Given the description of an element on the screen output the (x, y) to click on. 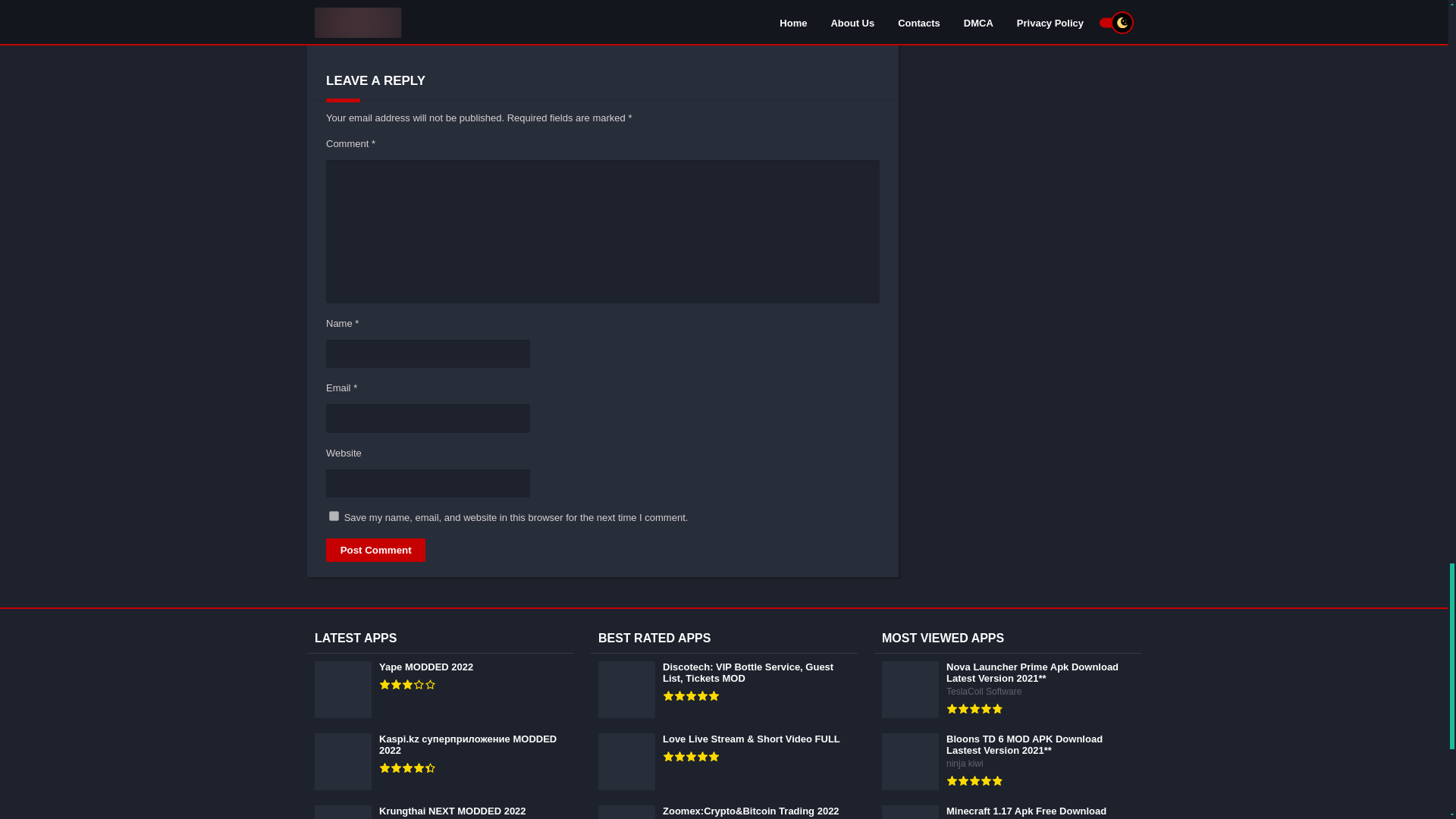
yes (334, 515)
Post Comment (375, 549)
Reply (392, 30)
